Given the description of an element on the screen output the (x, y) to click on. 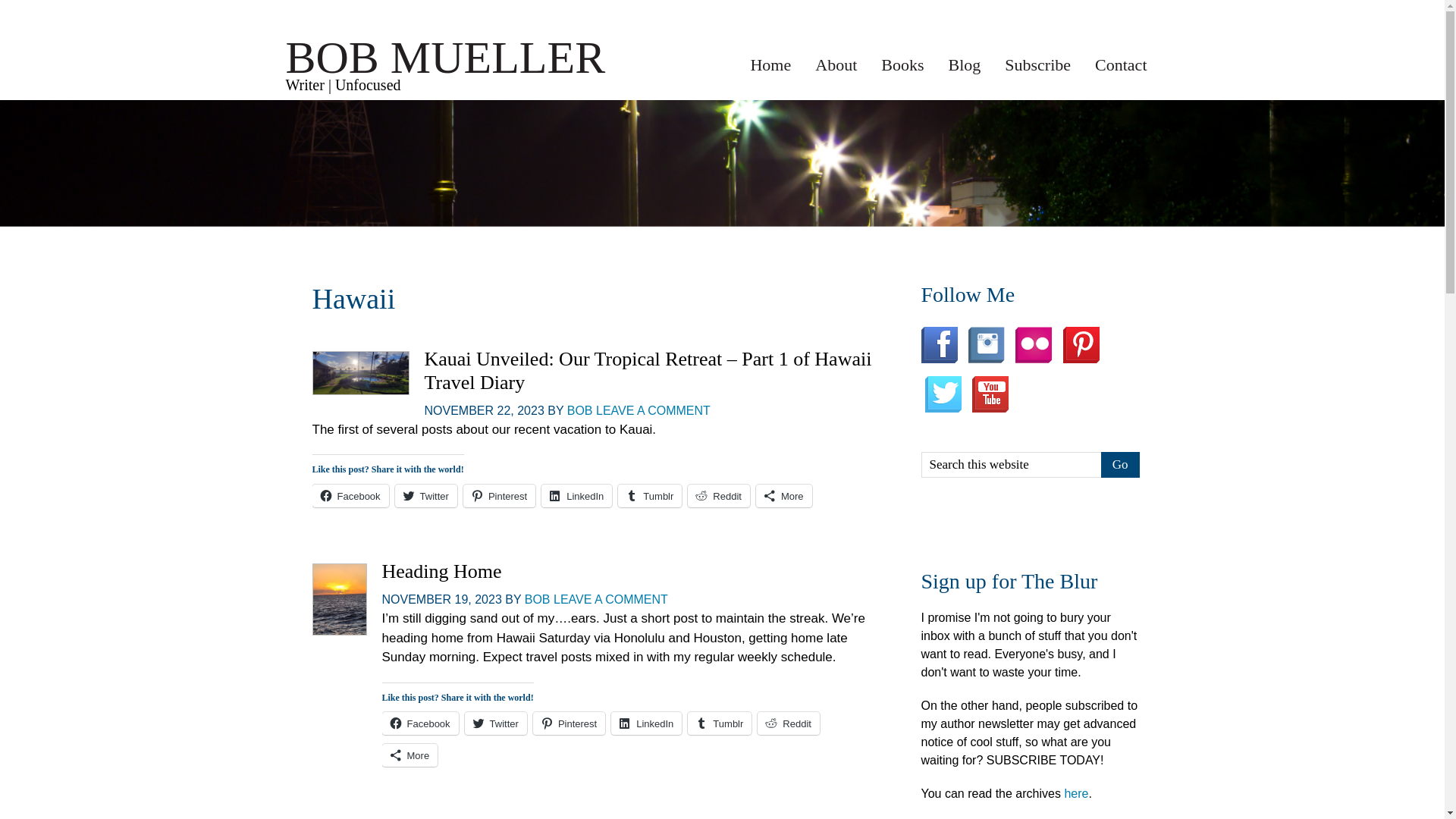
Reddit (718, 495)
Click to share on Twitter (495, 722)
Click to share on Twitter (425, 495)
Click to share on Pinterest (568, 722)
LinkedIn (576, 495)
Facebook (419, 722)
Click to share on LinkedIn (576, 495)
Home (770, 64)
BOB (537, 599)
About (836, 64)
